Given the description of an element on the screen output the (x, y) to click on. 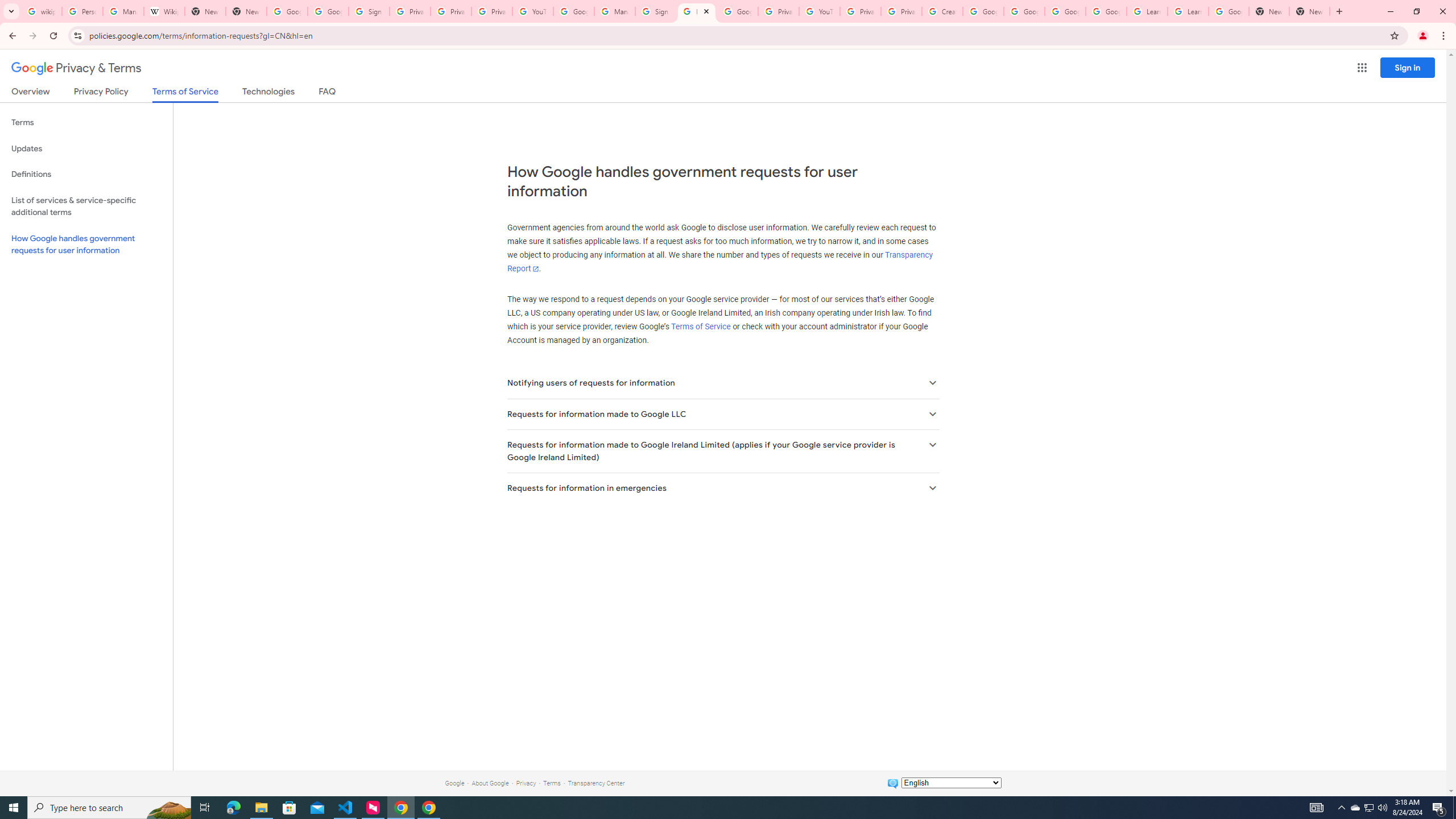
YouTube (818, 11)
New Tab (1309, 11)
About Google (490, 783)
Requests for information in emergencies (722, 488)
Google Account (1228, 11)
